Given the description of an element on the screen output the (x, y) to click on. 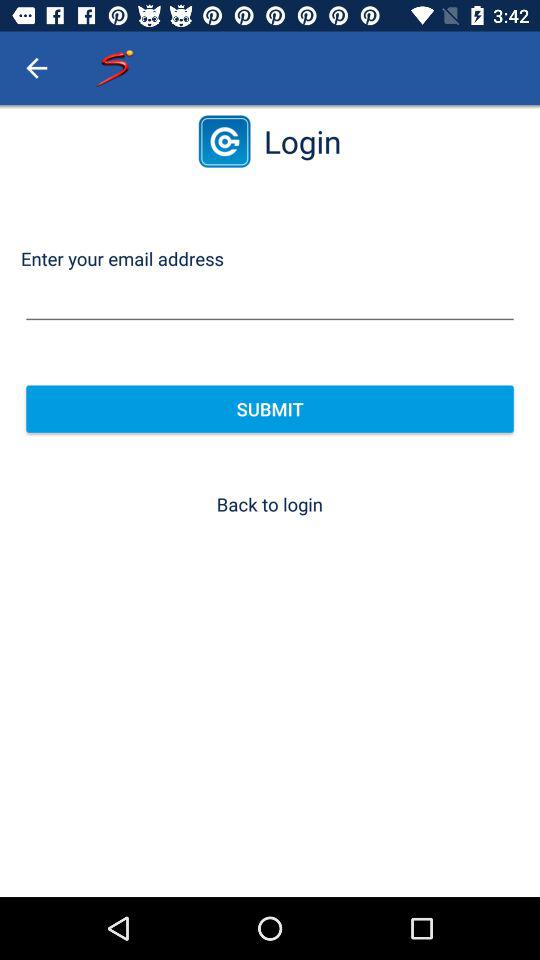
click submit icon (270, 408)
